Given the description of an element on the screen output the (x, y) to click on. 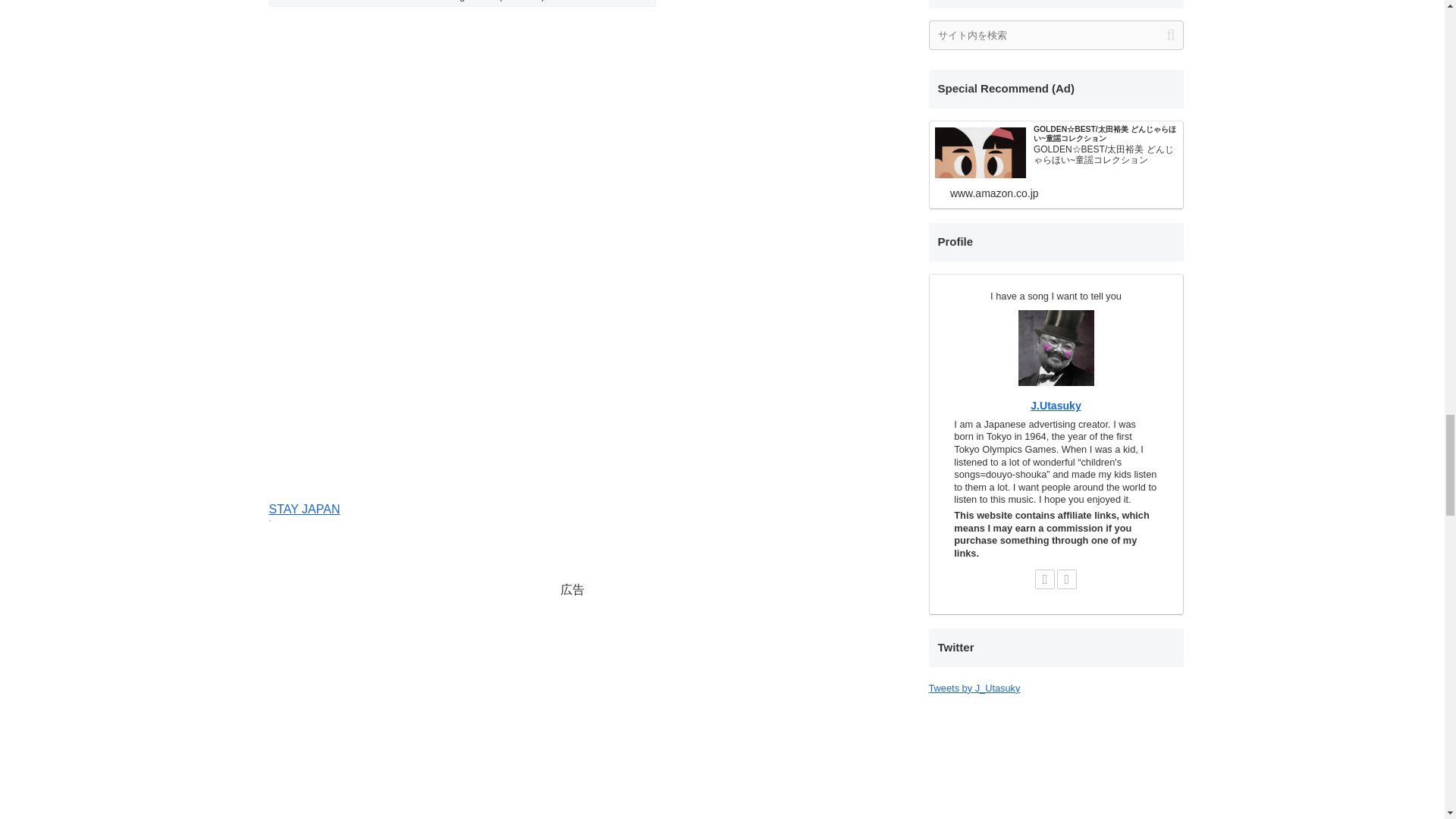
STAY JAPAN (303, 508)
